Given the description of an element on the screen output the (x, y) to click on. 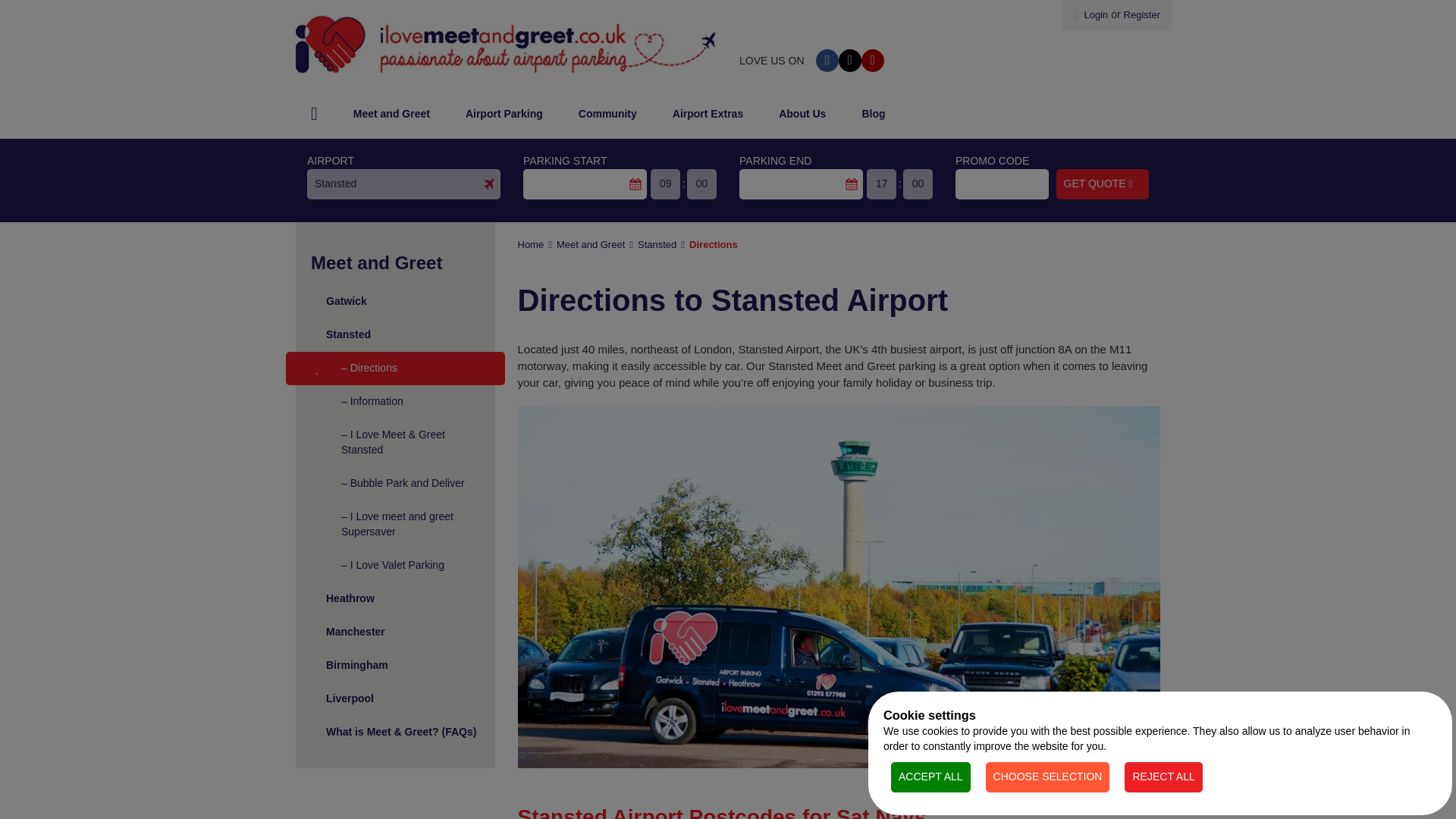
Login (1091, 14)
Register (1142, 14)
Meet and Greet (391, 114)
Airport Parking (503, 114)
Community (607, 114)
